Given the description of an element on the screen output the (x, y) to click on. 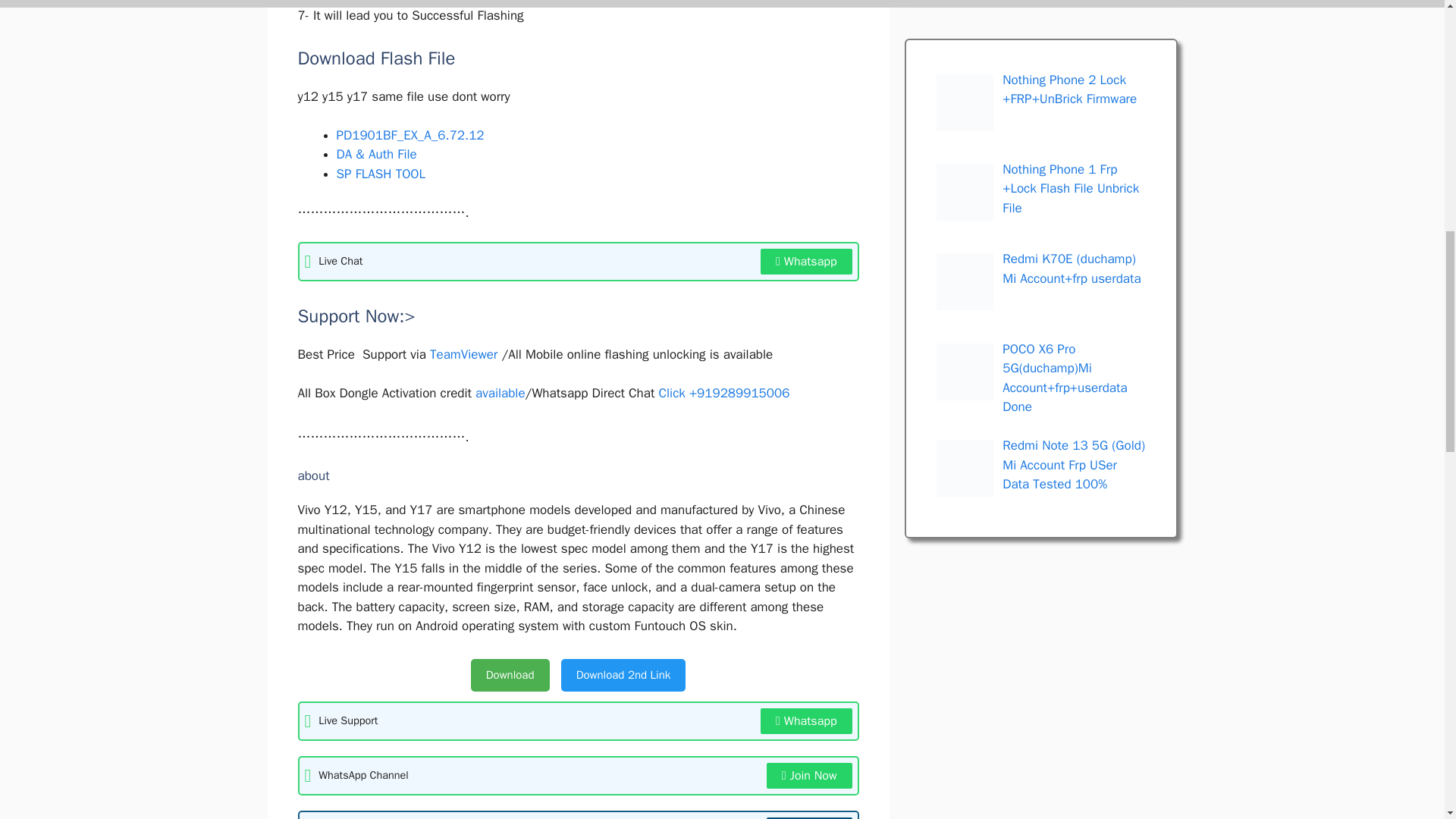
Download 2nd Link (622, 675)
TeamViewer (463, 354)
available (500, 392)
Whatsapp (805, 261)
Join Now (809, 818)
Join Now (809, 775)
Whatsapp (805, 720)
SP FLASH TOOL (381, 173)
Download (510, 675)
